Given the description of an element on the screen output the (x, y) to click on. 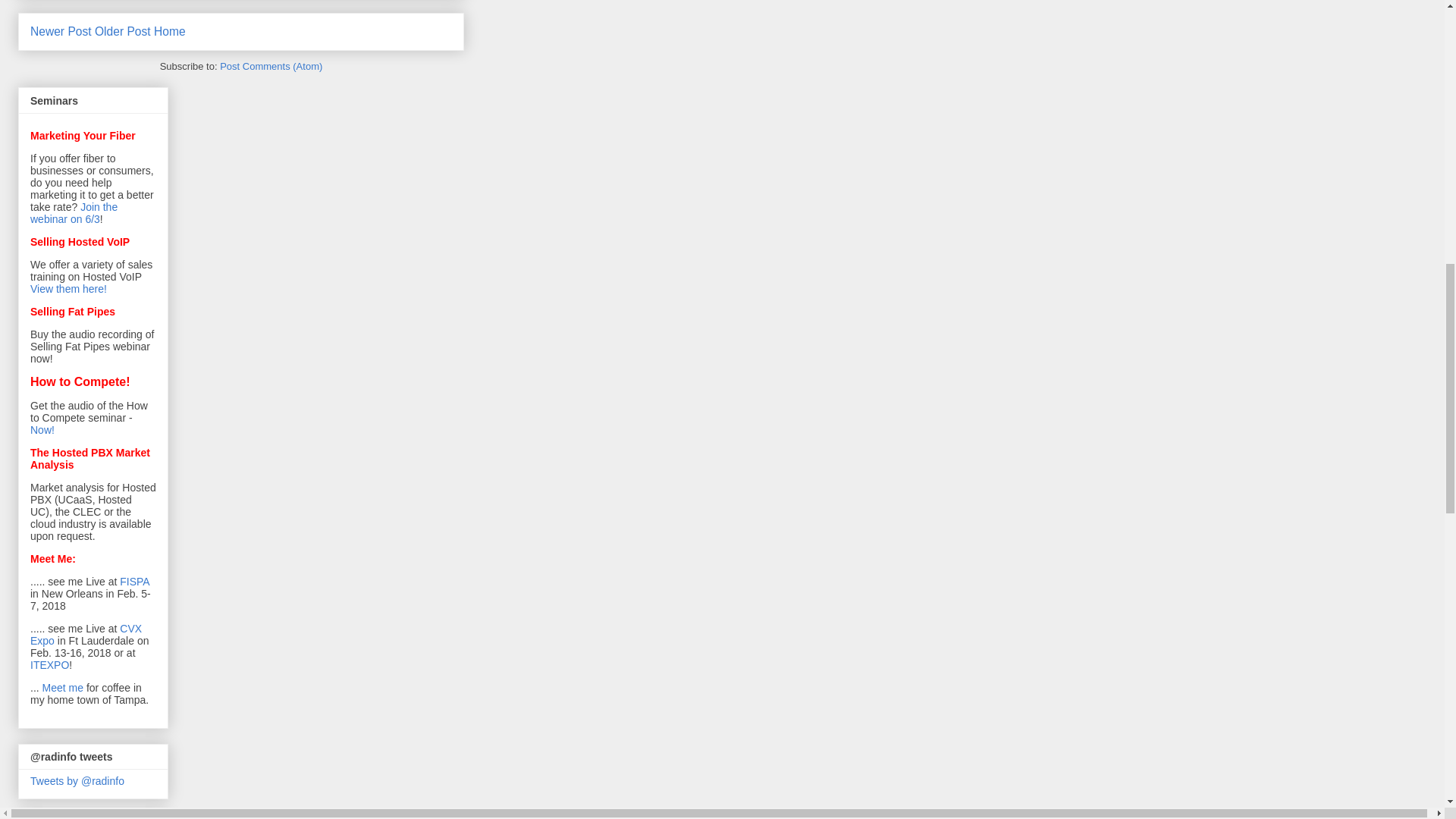
Meet me (62, 687)
ITEXPO (49, 664)
Older Post (122, 31)
FISPA (134, 581)
Newer Post (60, 31)
View them here! (68, 288)
Home (170, 31)
Newer Post (60, 31)
Older Post (122, 31)
Now! (42, 429)
CVX Expo (85, 634)
